Given the description of an element on the screen output the (x, y) to click on. 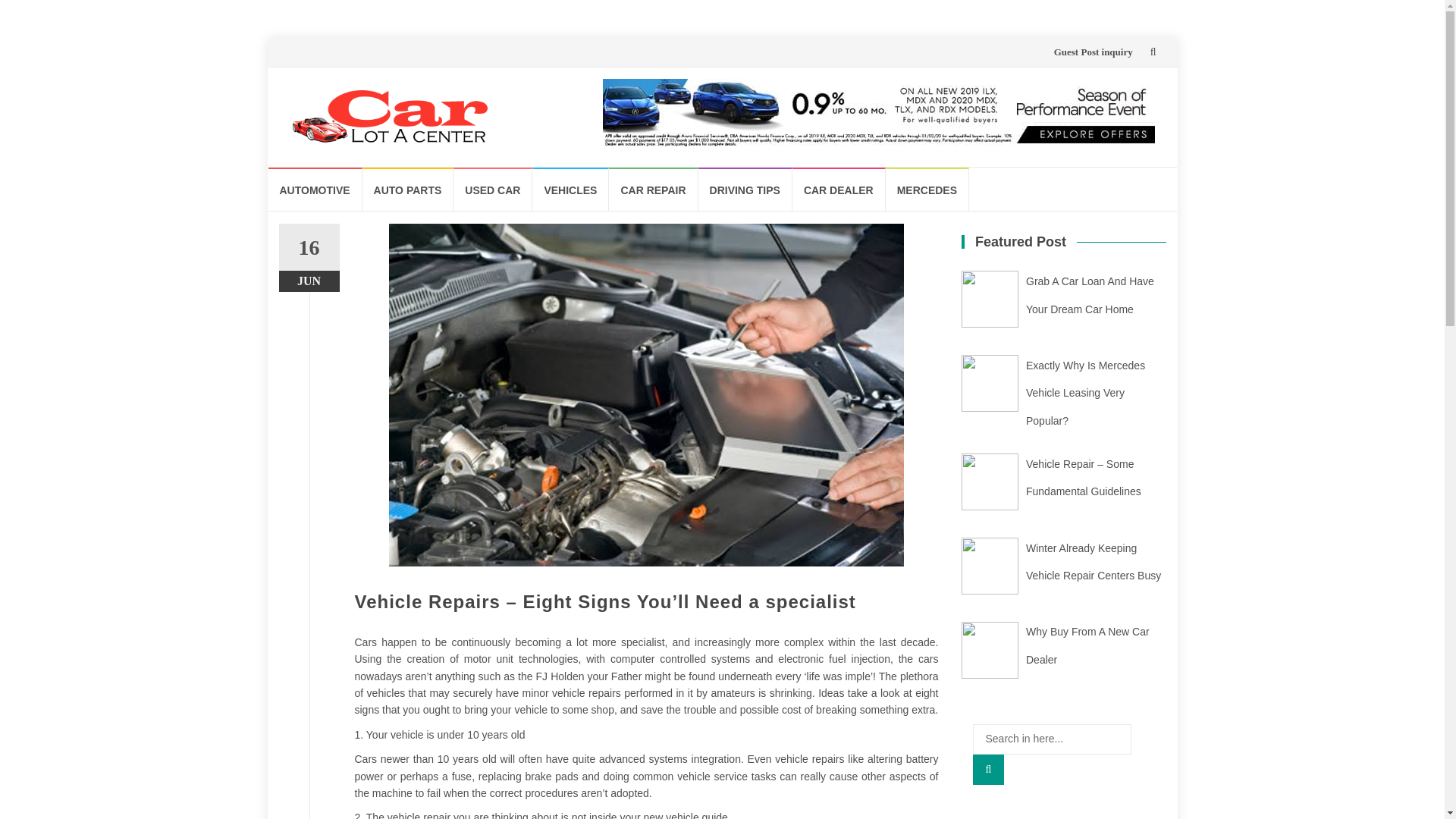
Exactly Why Is Mercedes Vehicle Leasing Very Popular? (1085, 392)
CAR REPAIR (652, 188)
DRIVING TIPS (745, 188)
VEHICLES (570, 188)
MERCEDES (927, 188)
AUTOMOTIVE (314, 188)
AUTO PARTS (408, 188)
Guest Post inquiry (1093, 51)
